Given the description of an element on the screen output the (x, y) to click on. 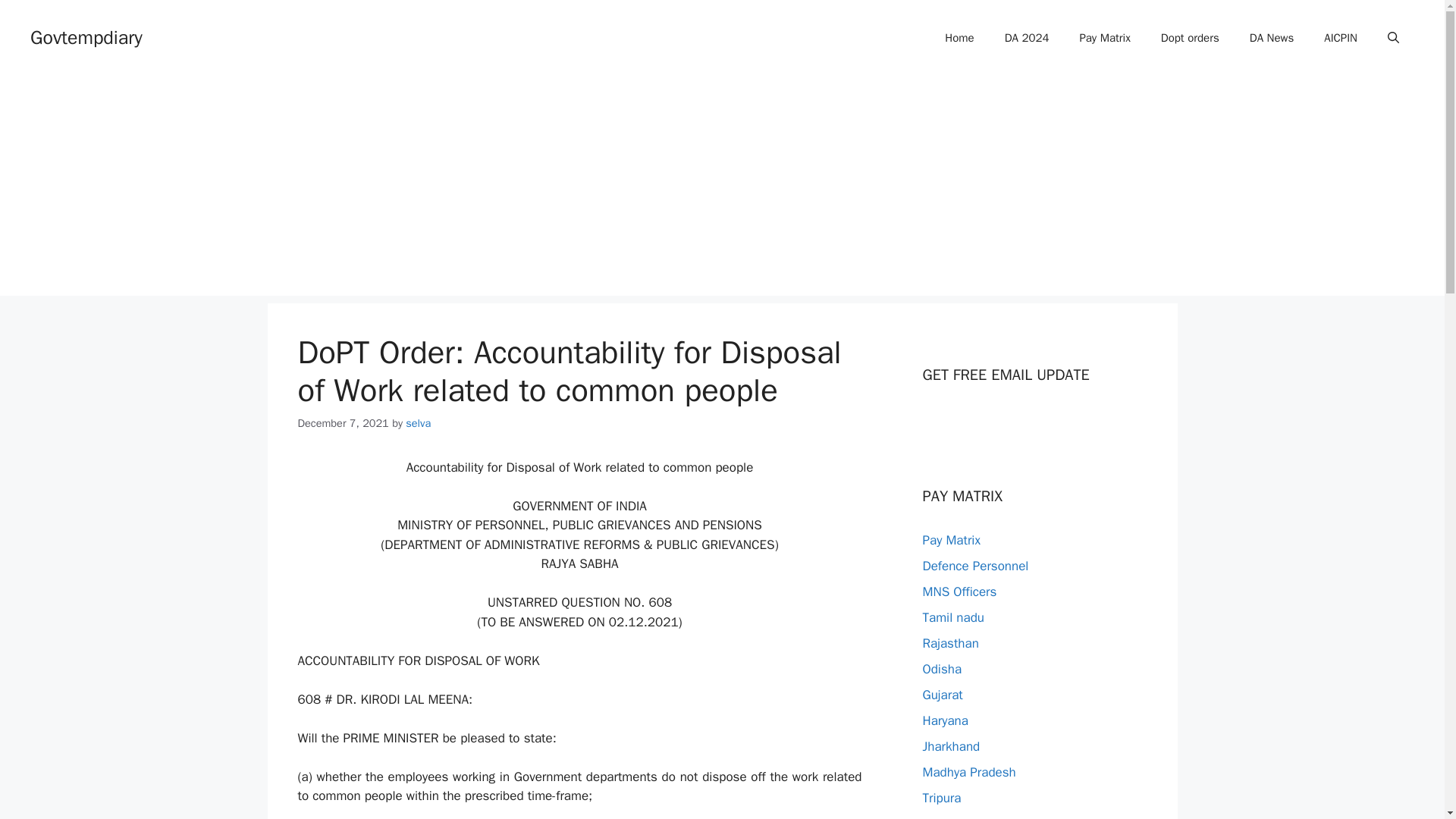
selva (418, 422)
Haryana (944, 720)
DA From January 2024 (1027, 37)
View all posts by selva (418, 422)
Rajasthan (949, 643)
Defence Personnel (974, 565)
Gujarat (941, 694)
Tripura (940, 797)
Home (959, 37)
Pay Matrix (950, 539)
